Given the description of an element on the screen output the (x, y) to click on. 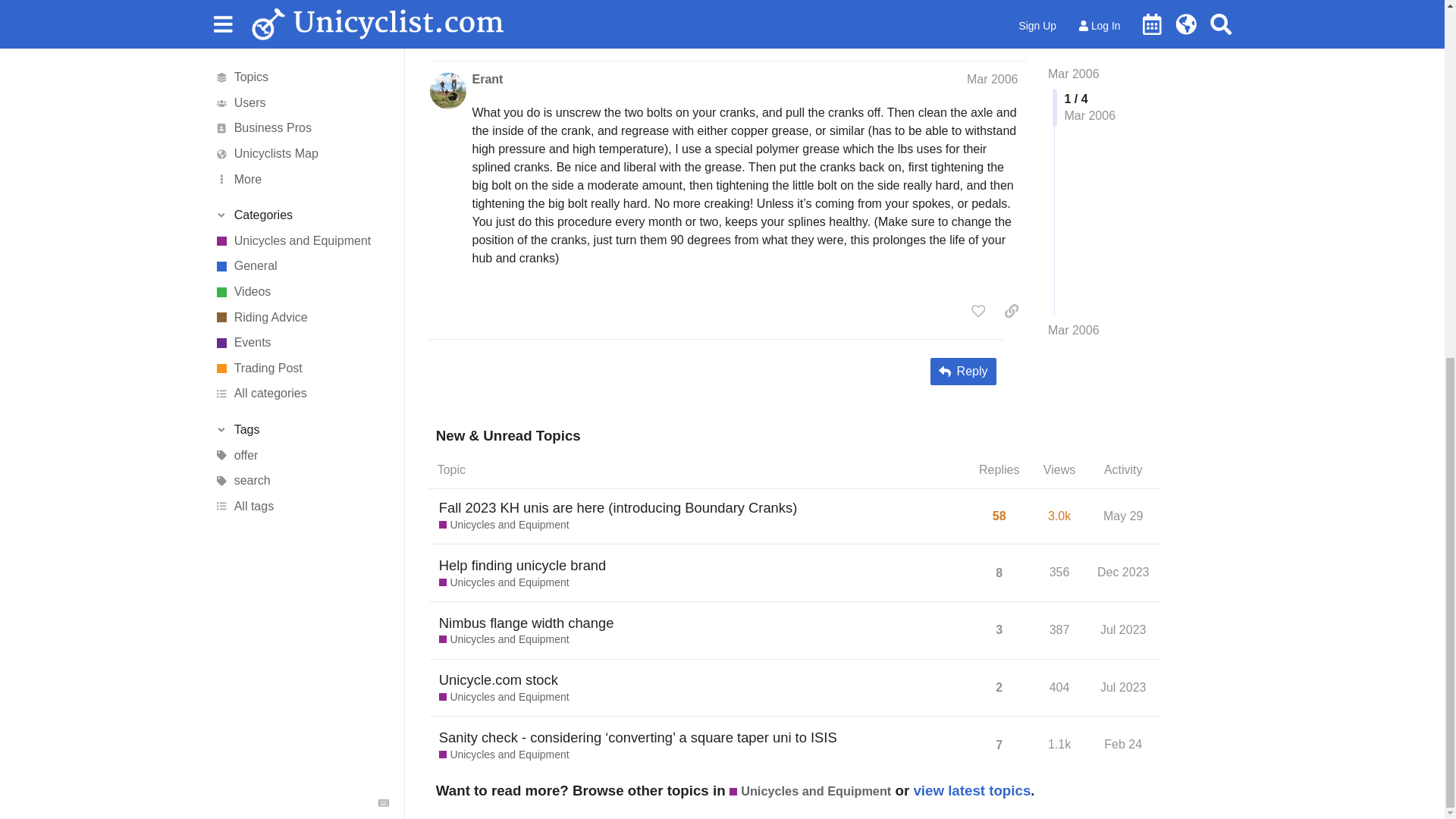
Keyboard Shortcuts (384, 171)
